Given the description of an element on the screen output the (x, y) to click on. 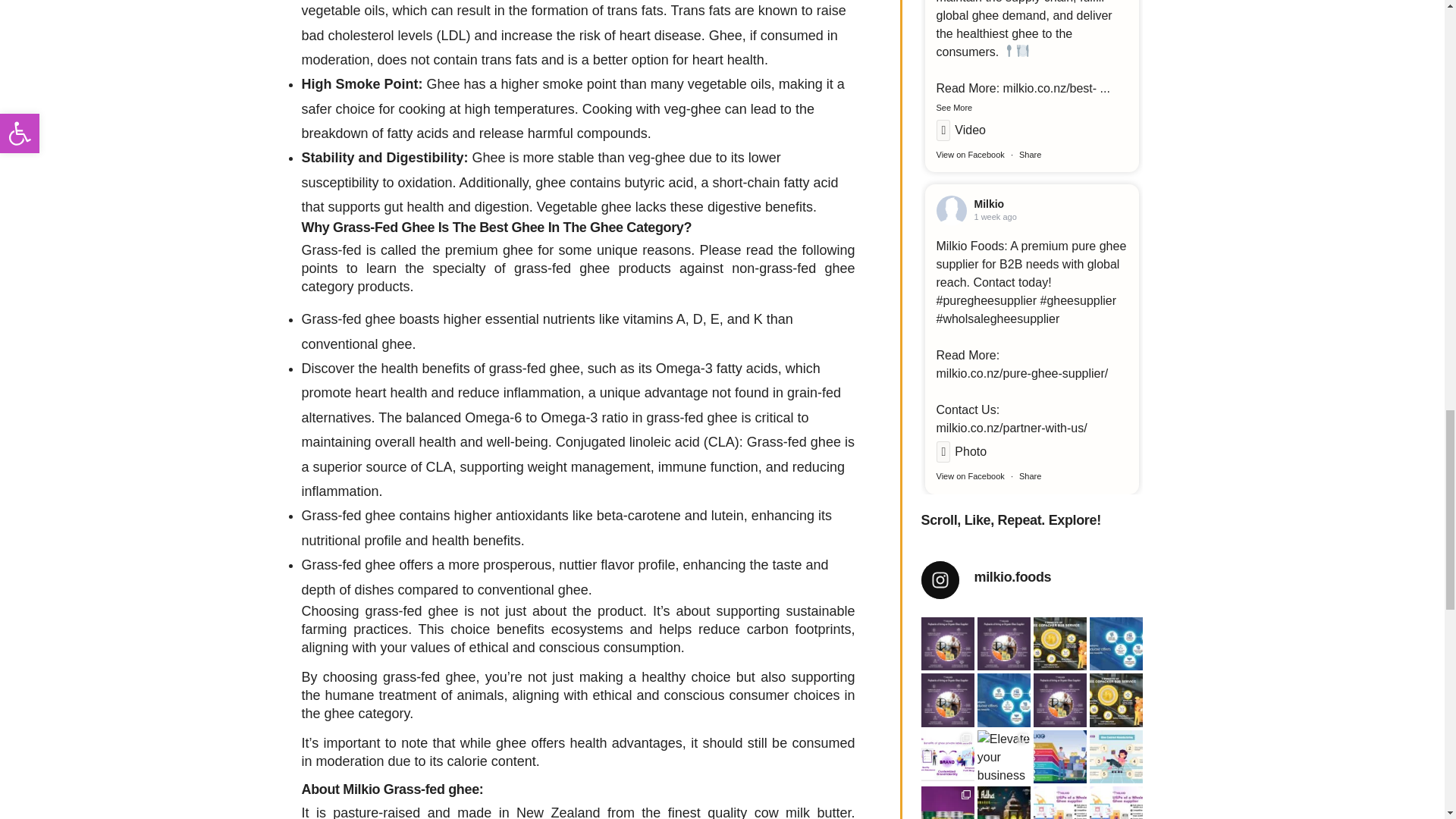
View on Facebook (970, 475)
Share (1030, 153)
View on Facebook (970, 153)
